Given the description of an element on the screen output the (x, y) to click on. 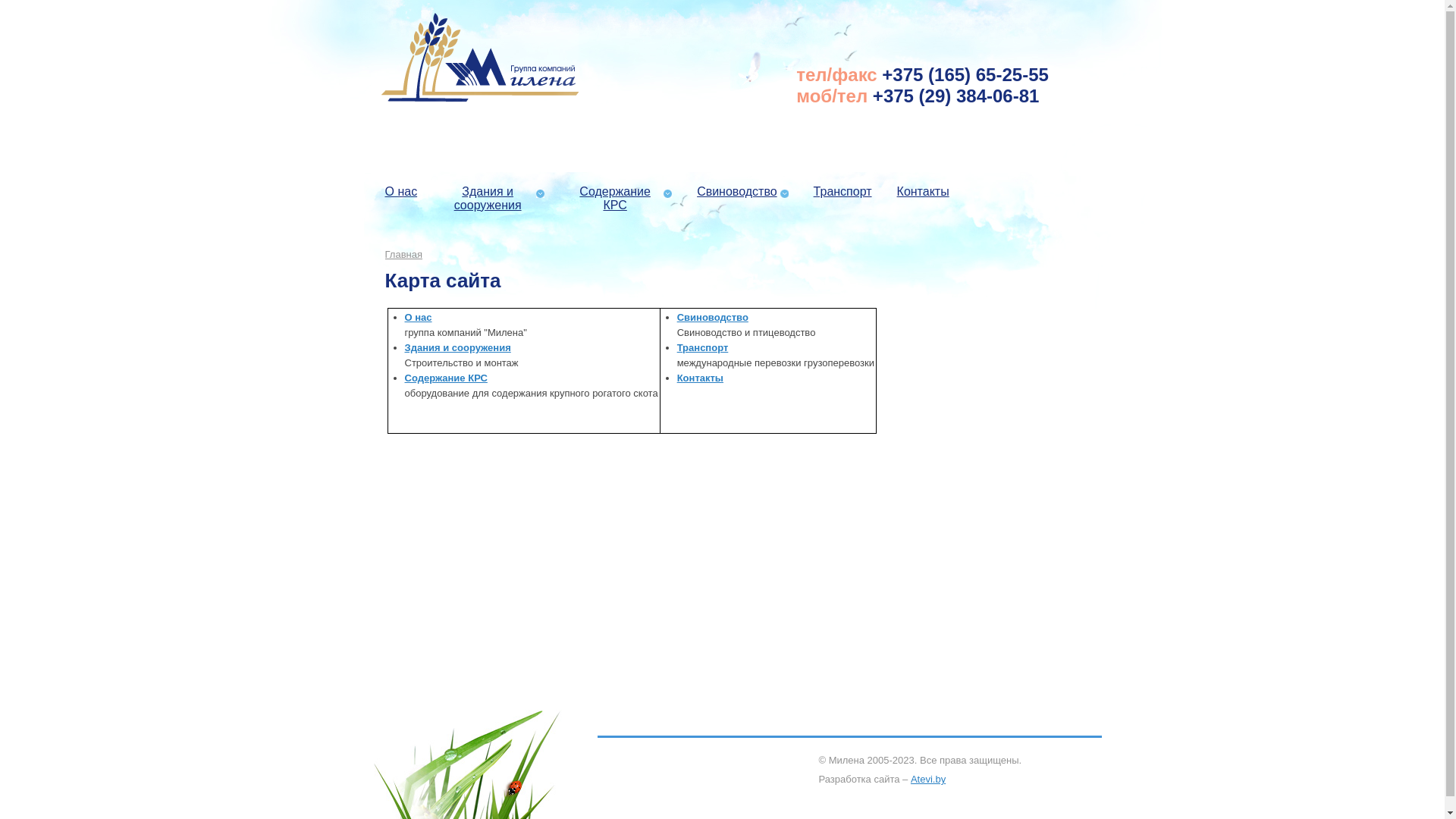
Atevi.by Element type: text (927, 778)
